Given the description of an element on the screen output the (x, y) to click on. 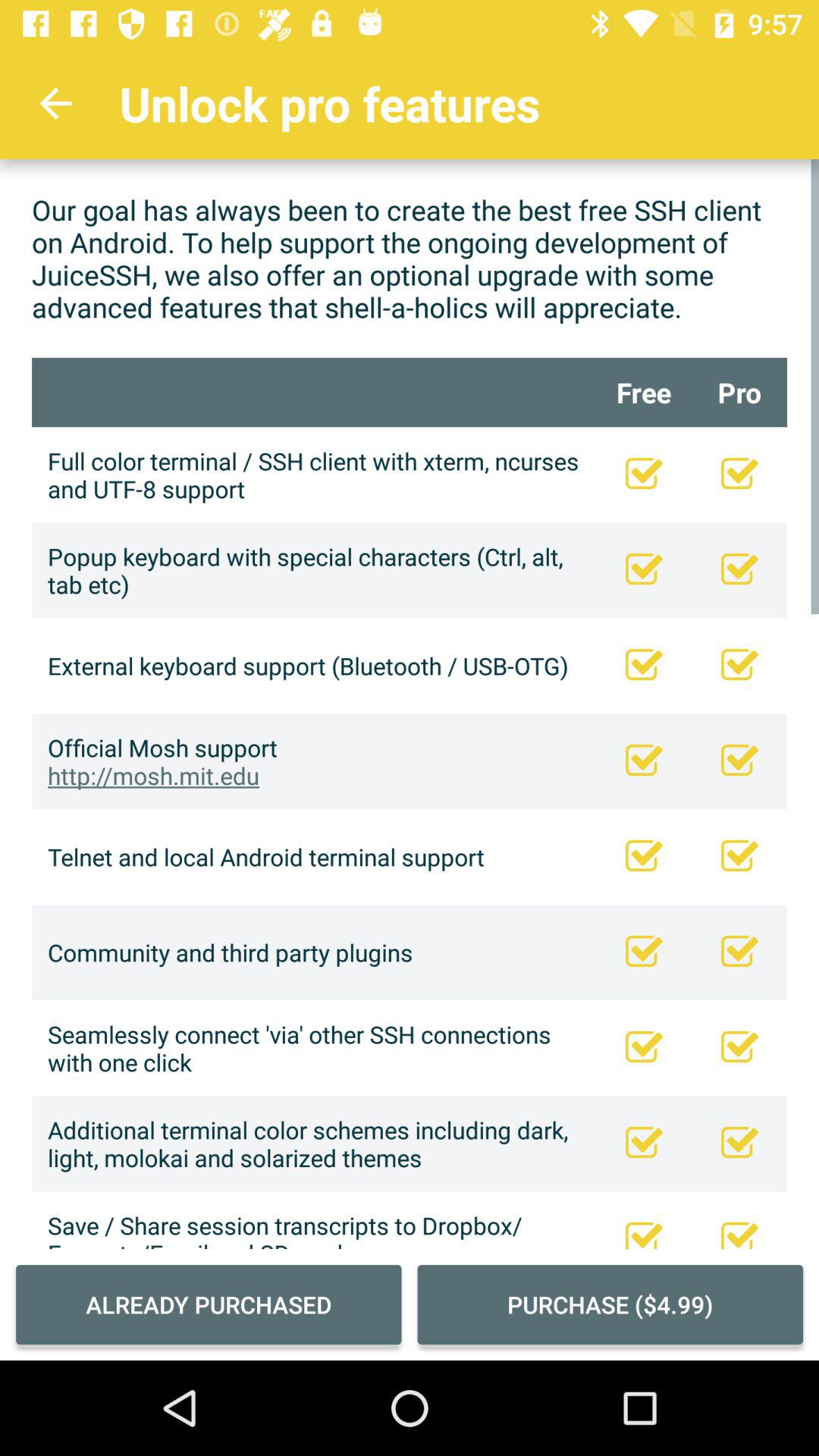
tap icon above the our goal has (55, 103)
